Given the description of an element on the screen output the (x, y) to click on. 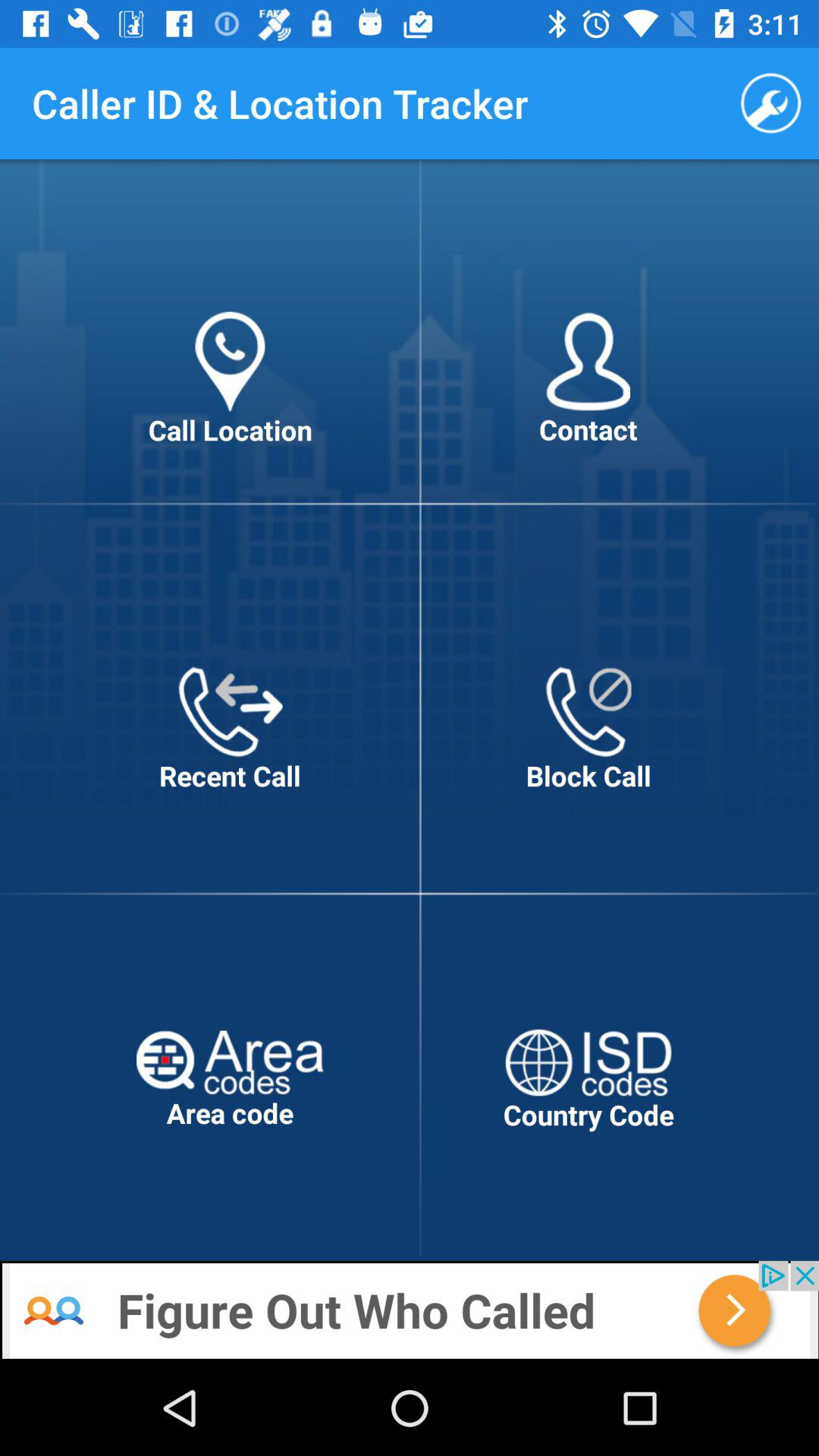
see advertisement (409, 1310)
